Given the description of an element on the screen output the (x, y) to click on. 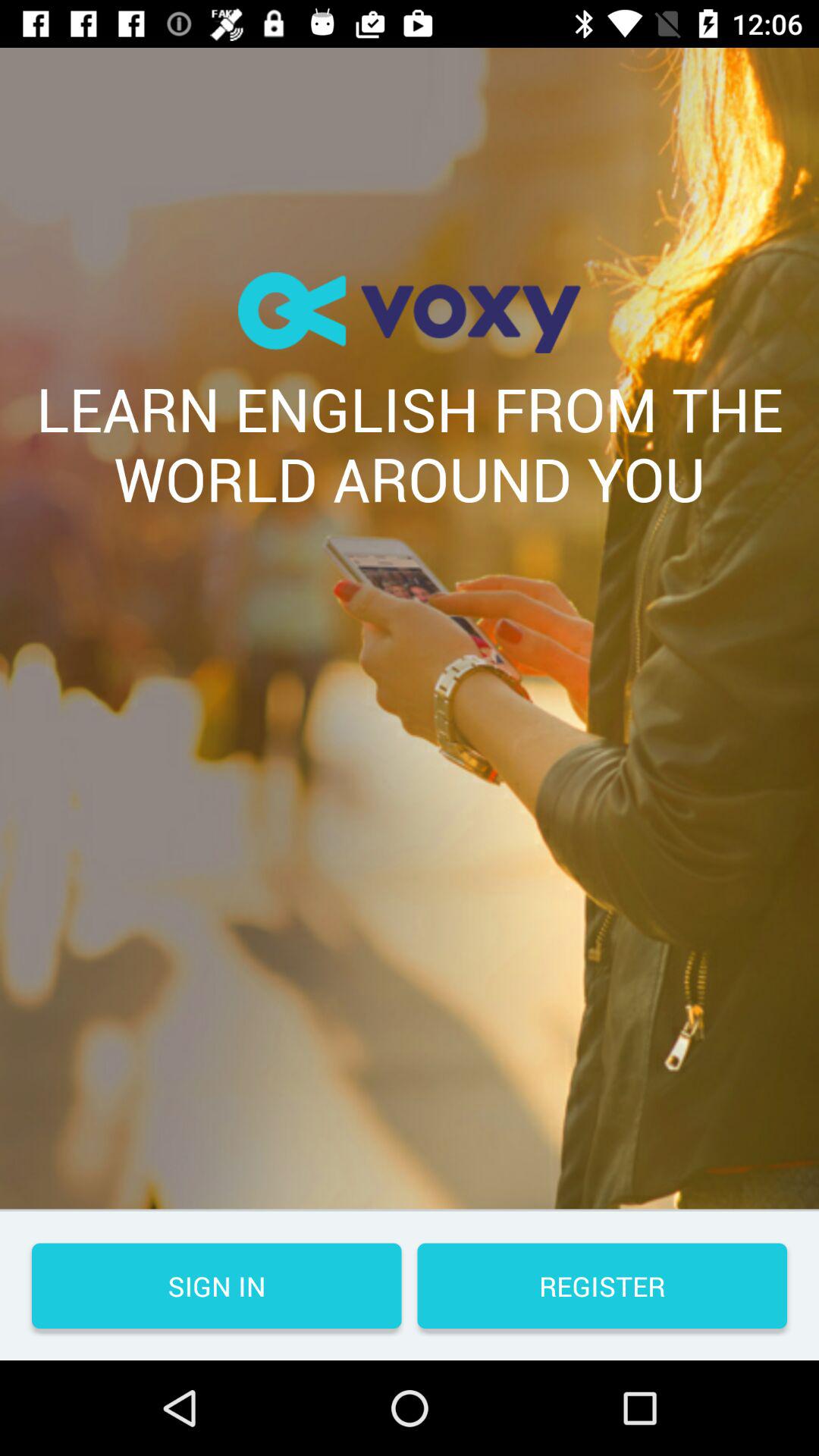
turn off the icon at the bottom right corner (602, 1285)
